Given the description of an element on the screen output the (x, y) to click on. 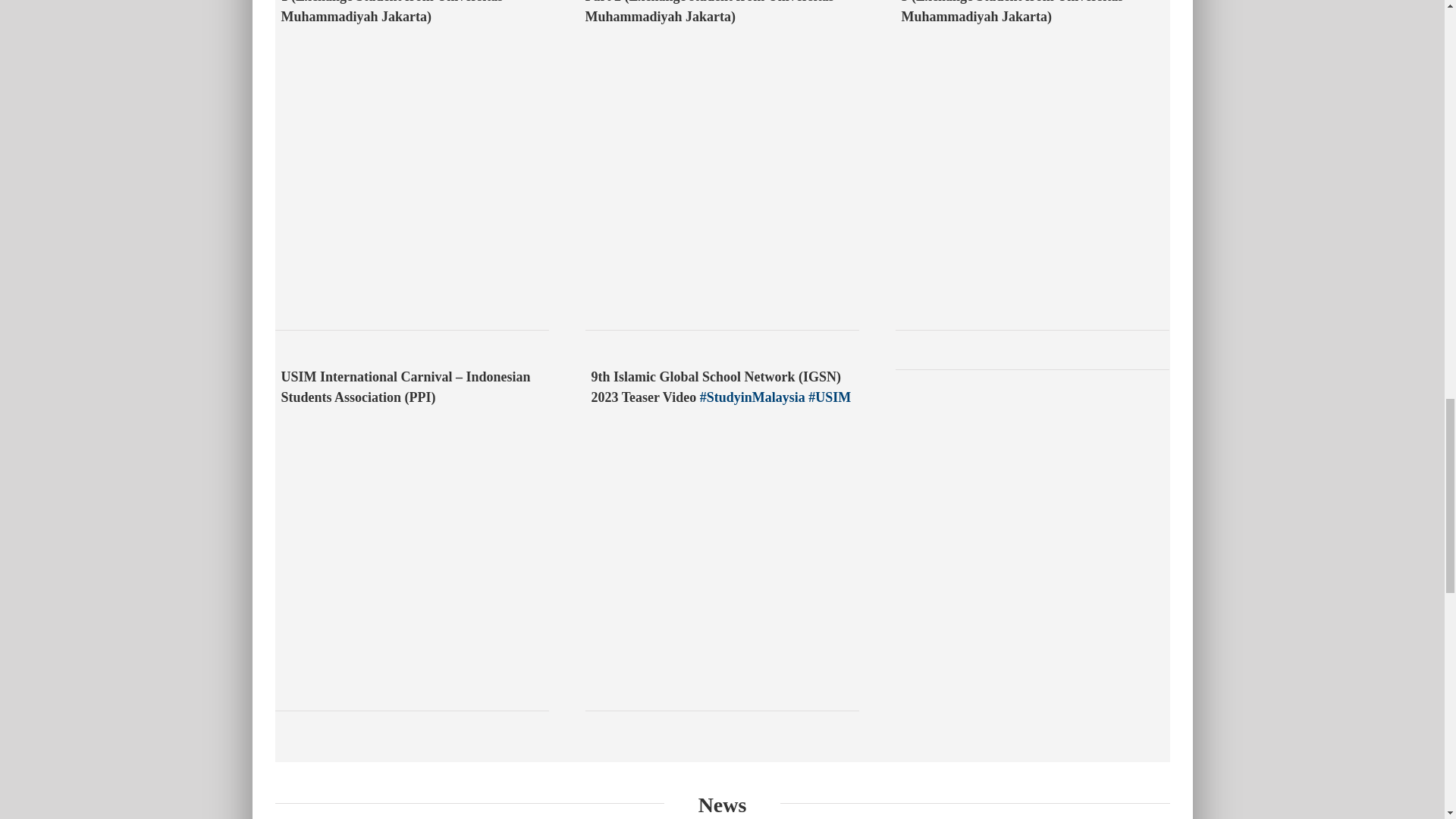
YouTube video player (813, 176)
YouTube video player (1123, 176)
YouTube video player (502, 176)
YouTube video player (813, 557)
YouTube video player (502, 557)
